Given the description of an element on the screen output the (x, y) to click on. 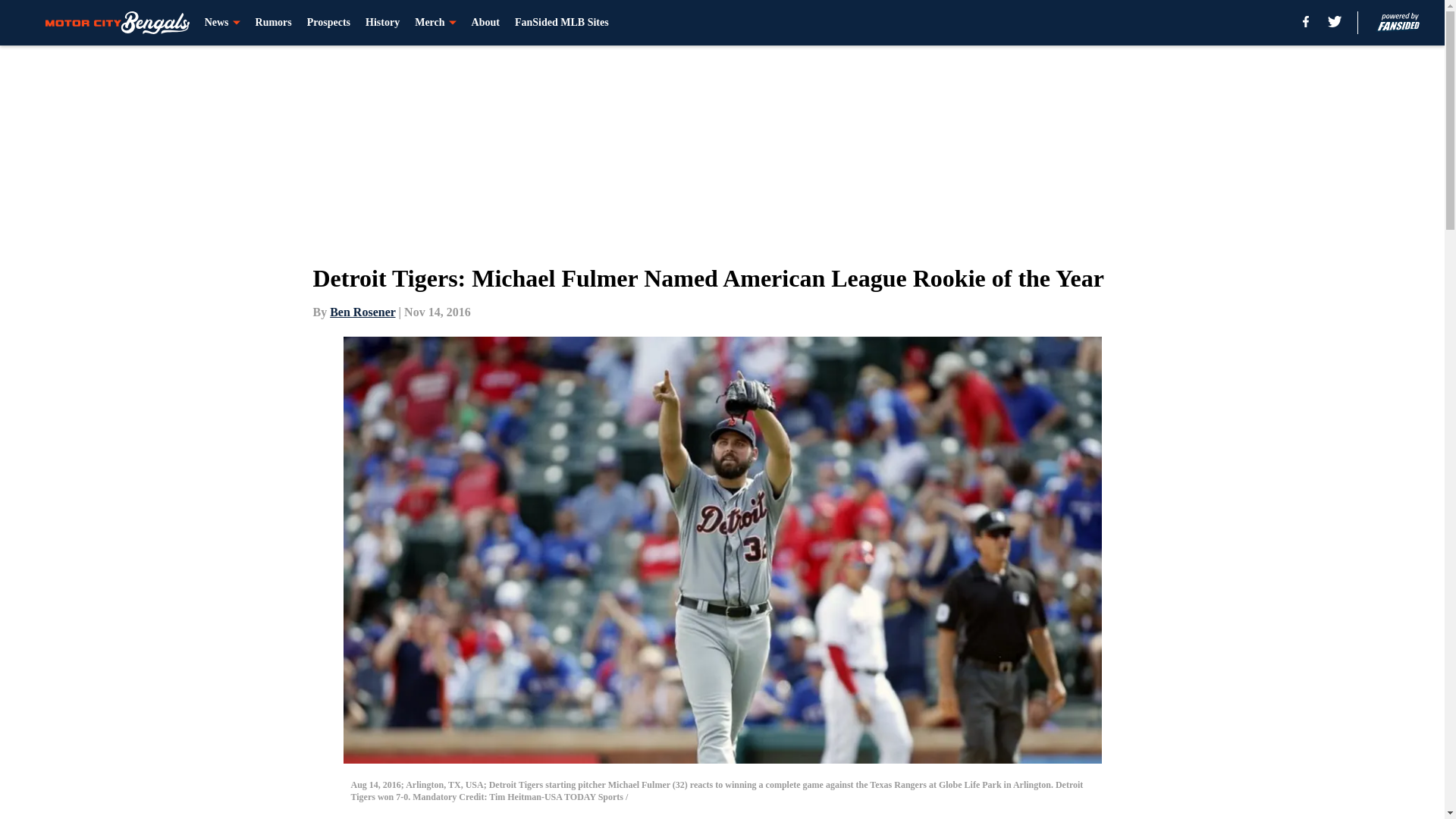
Prospects (328, 22)
History (381, 22)
Ben Rosener (362, 311)
FanSided MLB Sites (561, 22)
Rumors (274, 22)
News (222, 22)
About (485, 22)
